Given the description of an element on the screen output the (x, y) to click on. 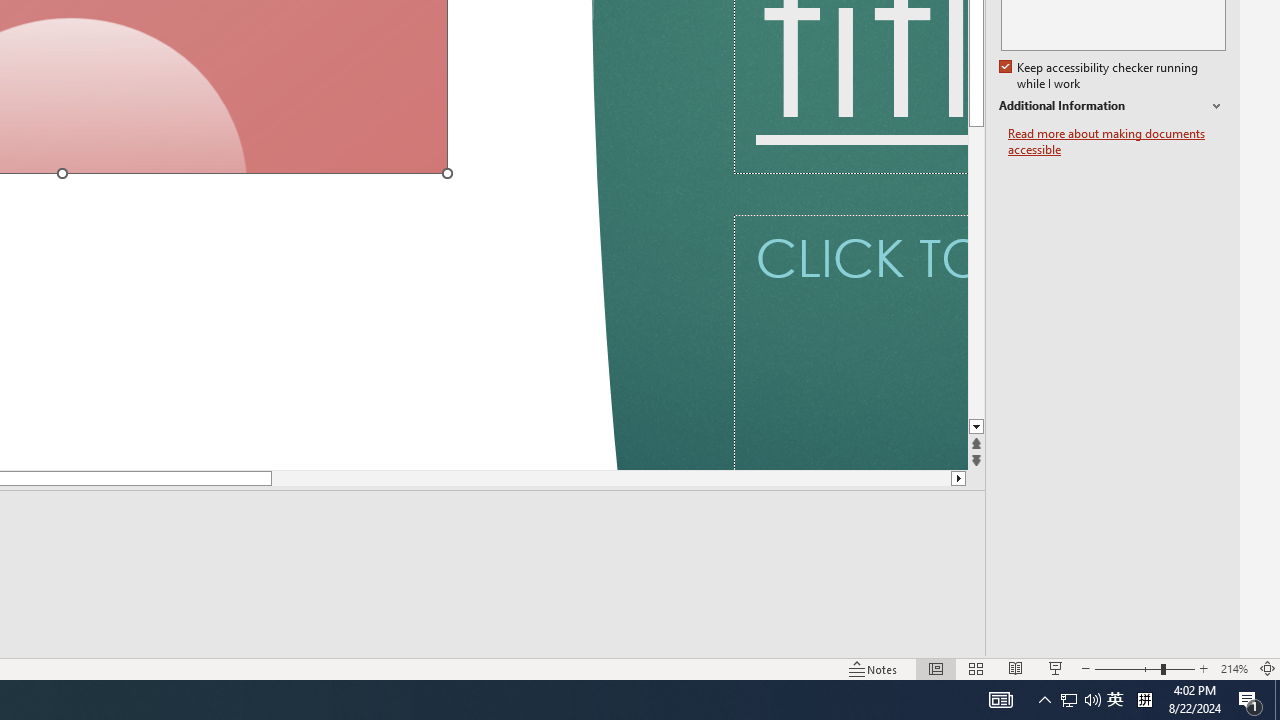
Page down (572, 478)
